Given the description of an element on the screen output the (x, y) to click on. 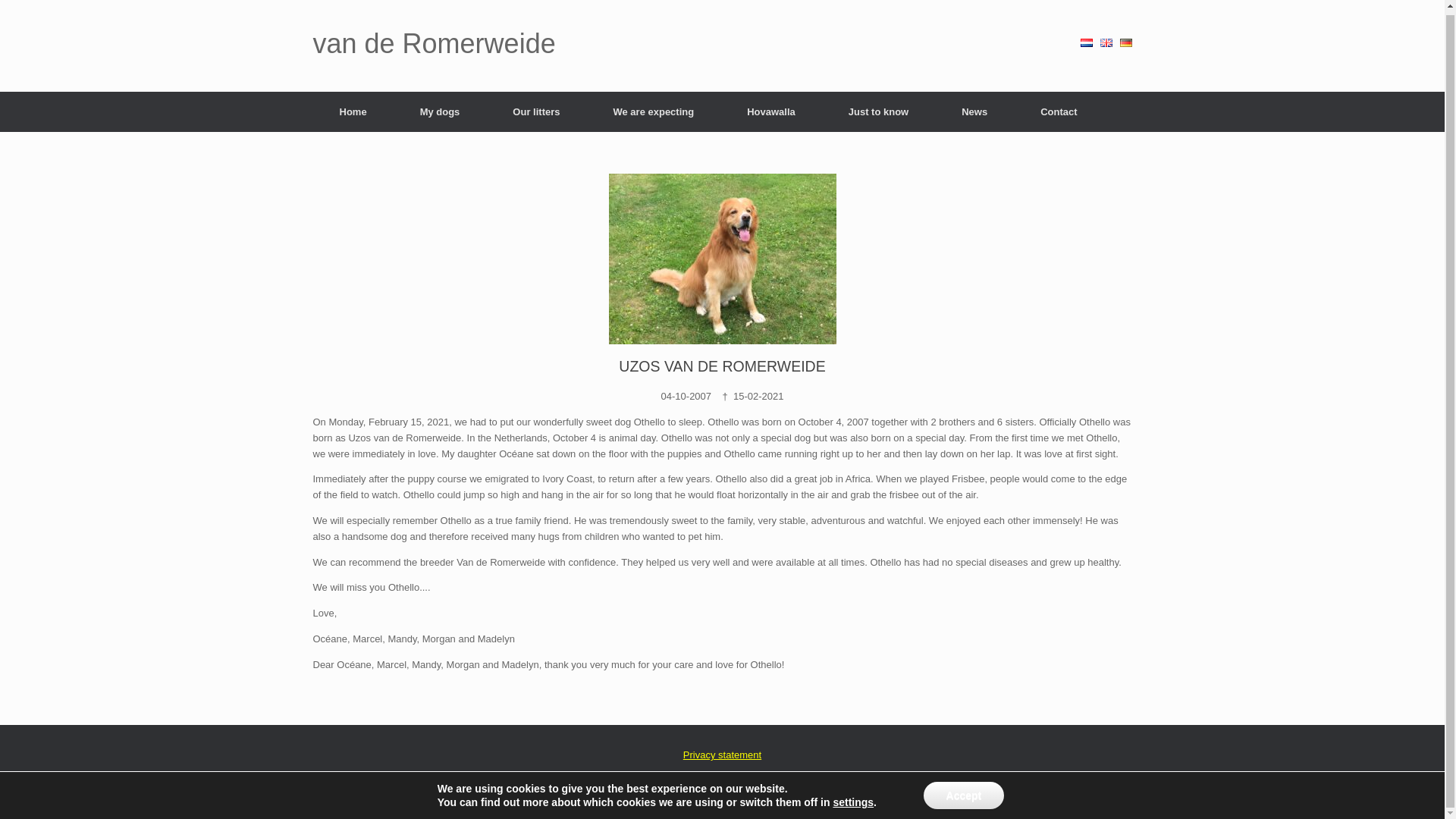
van de Romerweide (433, 43)
Just to know (878, 111)
Accept (963, 791)
Our litters (536, 111)
Privacy statement (721, 754)
News (973, 111)
Contact (1058, 111)
My dogs (439, 111)
Hovawalla (771, 111)
van de Romerweide (433, 43)
Home (353, 111)
We are expecting (653, 111)
